Given the description of an element on the screen output the (x, y) to click on. 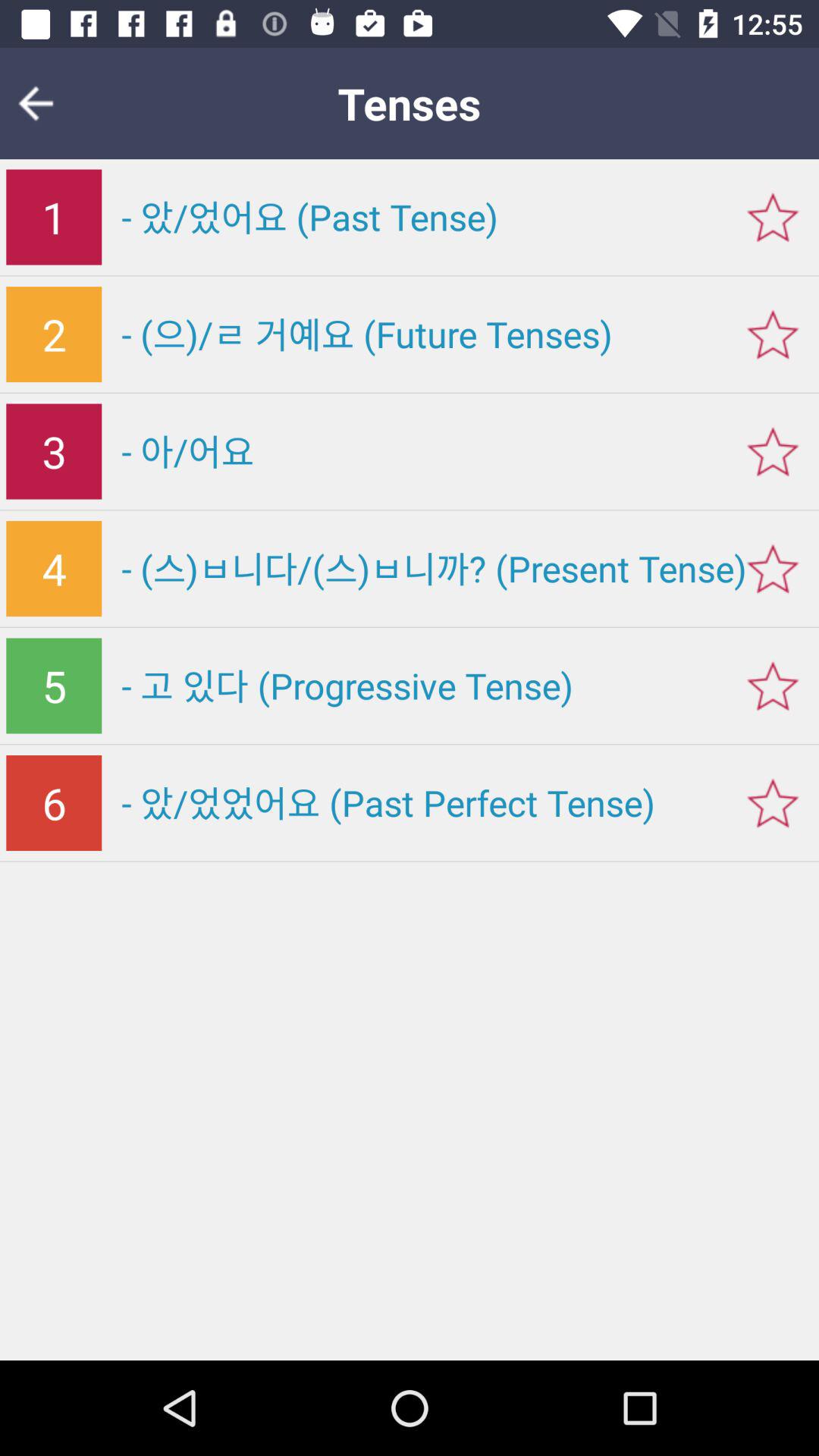
tap the item above the 6 item (53, 685)
